Given the description of an element on the screen output the (x, y) to click on. 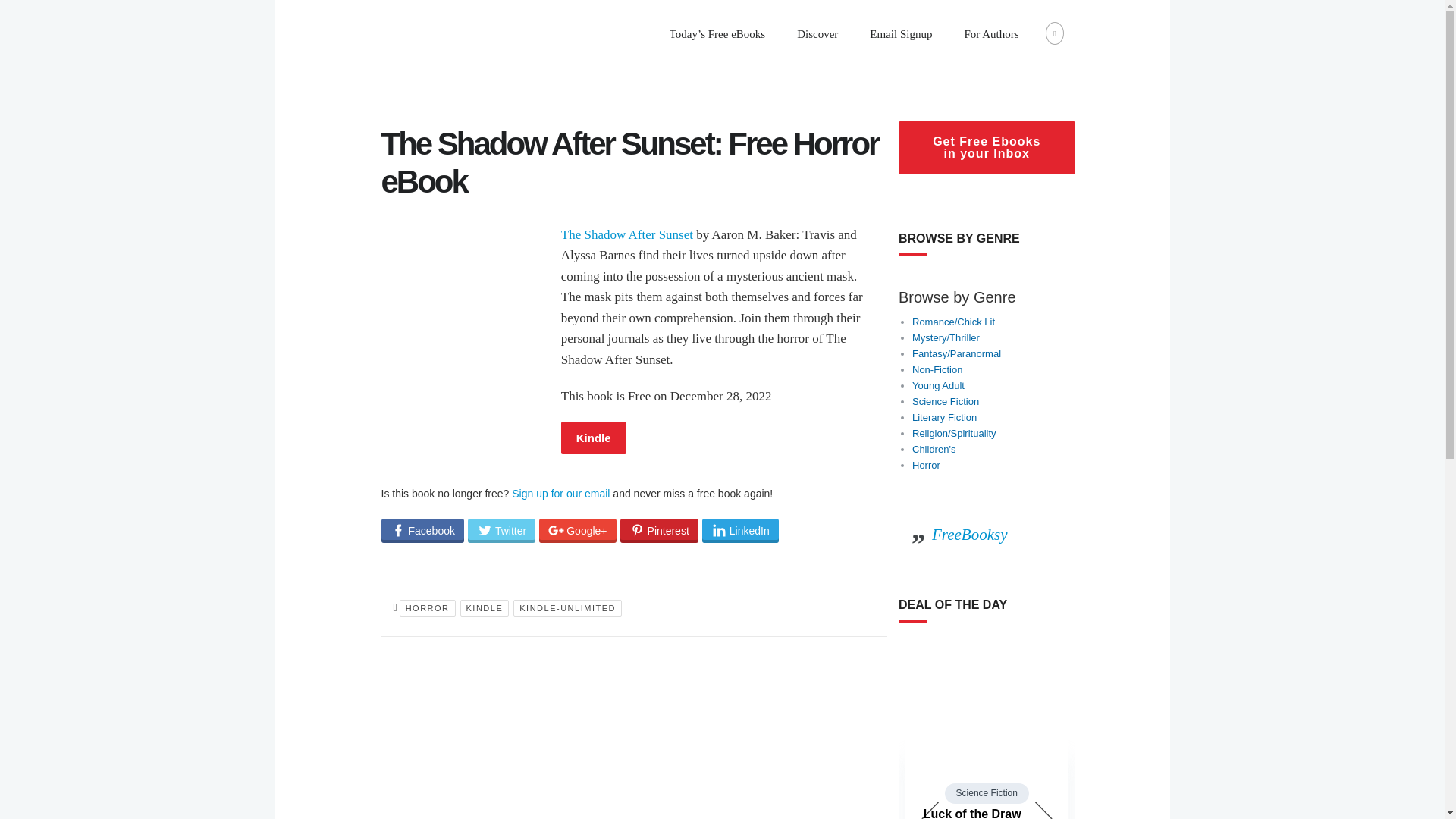
The Shadow After Sunset (593, 437)
The Shadow After Sunset (465, 286)
Discover (817, 33)
The Shadow After Sunset (626, 234)
